Given the description of an element on the screen output the (x, y) to click on. 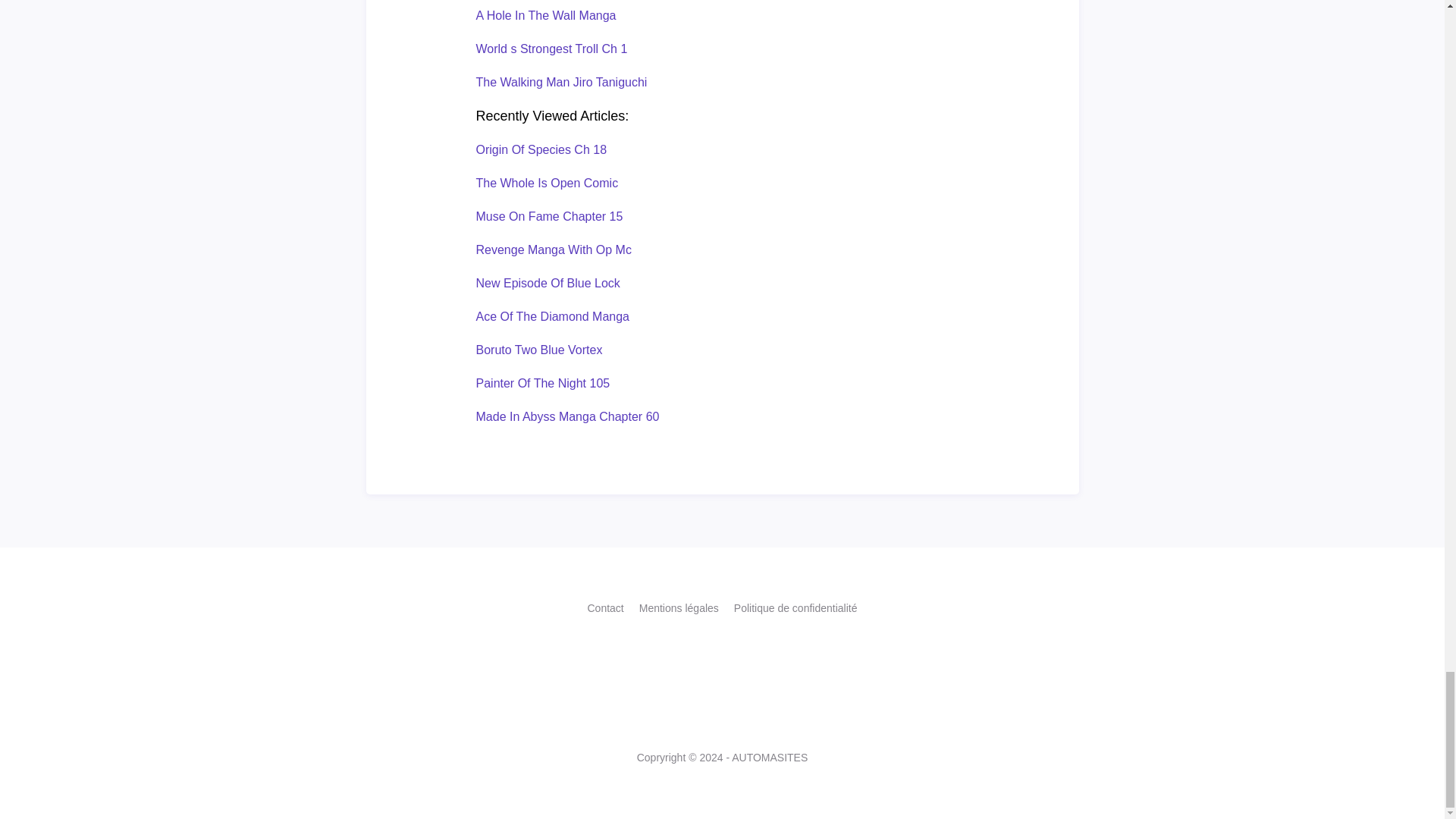
Origin Of Species Ch 18 (541, 149)
Boruto Two Blue Vortex (539, 349)
Revenge Manga With Op Mc (553, 249)
New Episode Of Blue Lock (548, 282)
Muse On Fame Chapter 15 (549, 215)
The Whole Is Open Comic (547, 182)
Contact (604, 608)
Painter Of The Night 105 (543, 382)
Ace Of The Diamond Manga (552, 316)
World s Strongest Troll Ch 1 (551, 48)
Made In Abyss Manga Chapter 60 (567, 416)
The Walking Man Jiro Taniguchi (561, 82)
A Hole In The Wall Manga (545, 15)
